Given the description of an element on the screen output the (x, y) to click on. 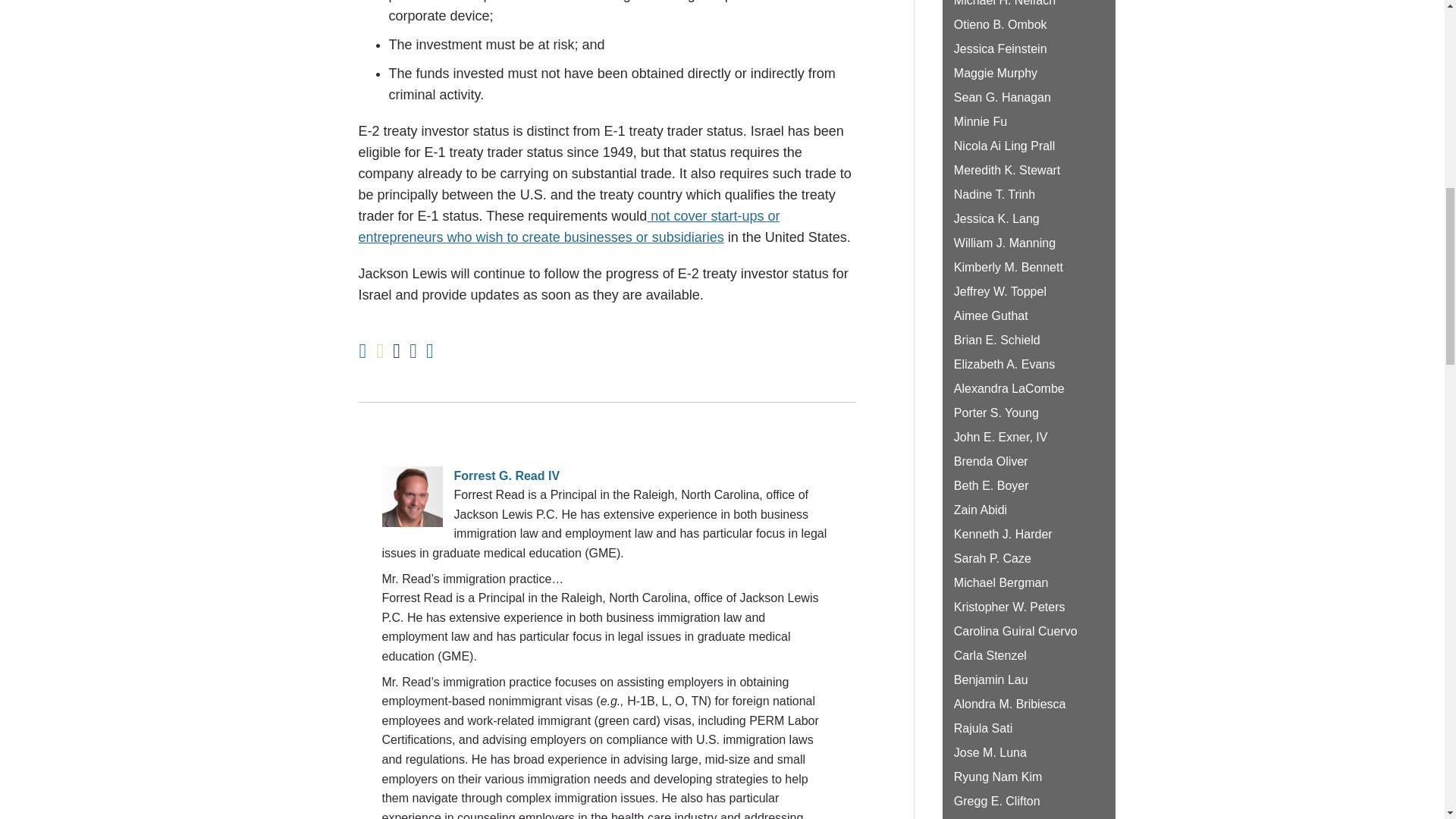
Forrest G. Read IV (606, 476)
